Given the description of an element on the screen output the (x, y) to click on. 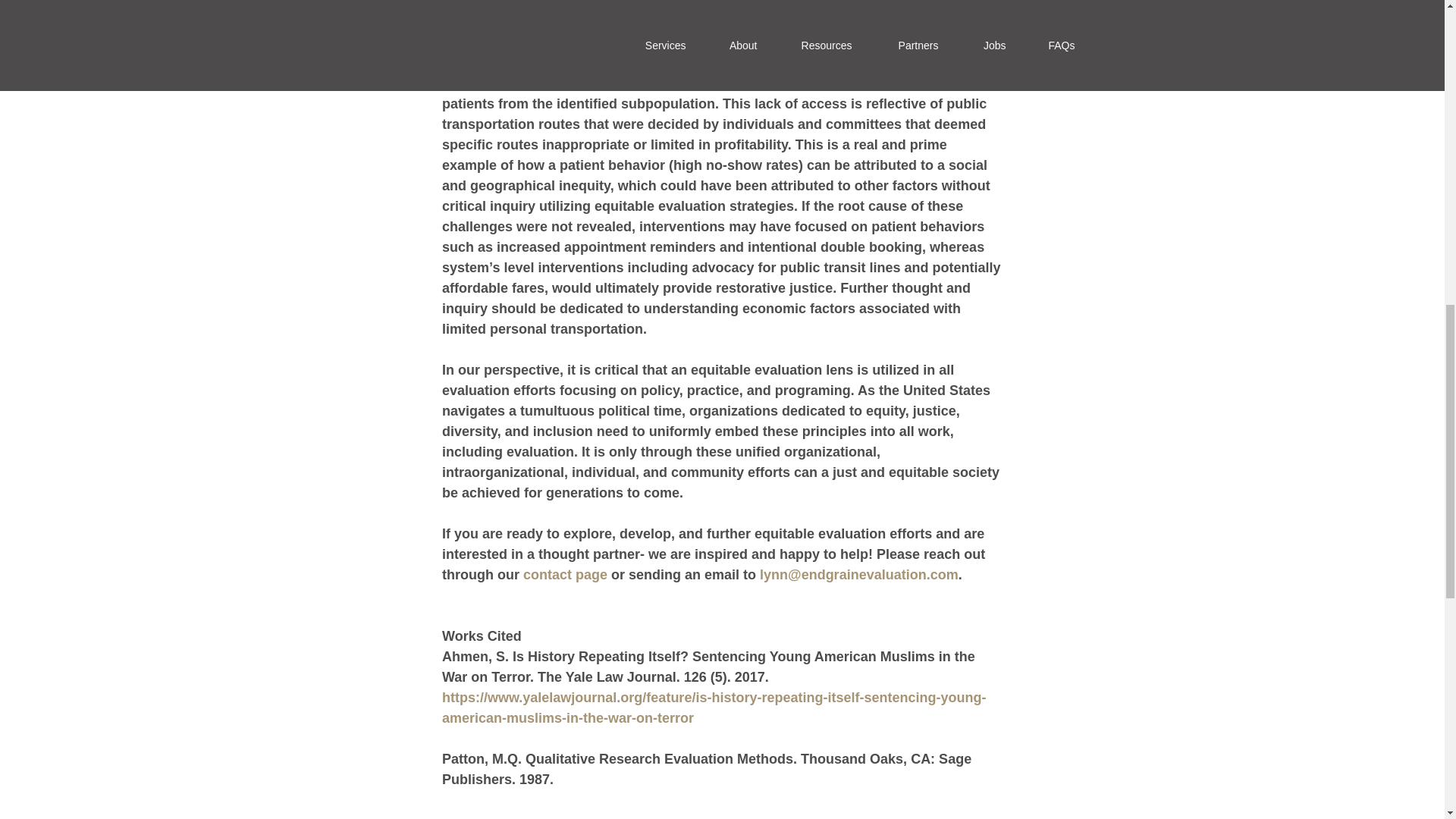
 page (589, 574)
.com (942, 574)
contact (546, 574)
endgrainevaluation (863, 574)
